Given the description of an element on the screen output the (x, y) to click on. 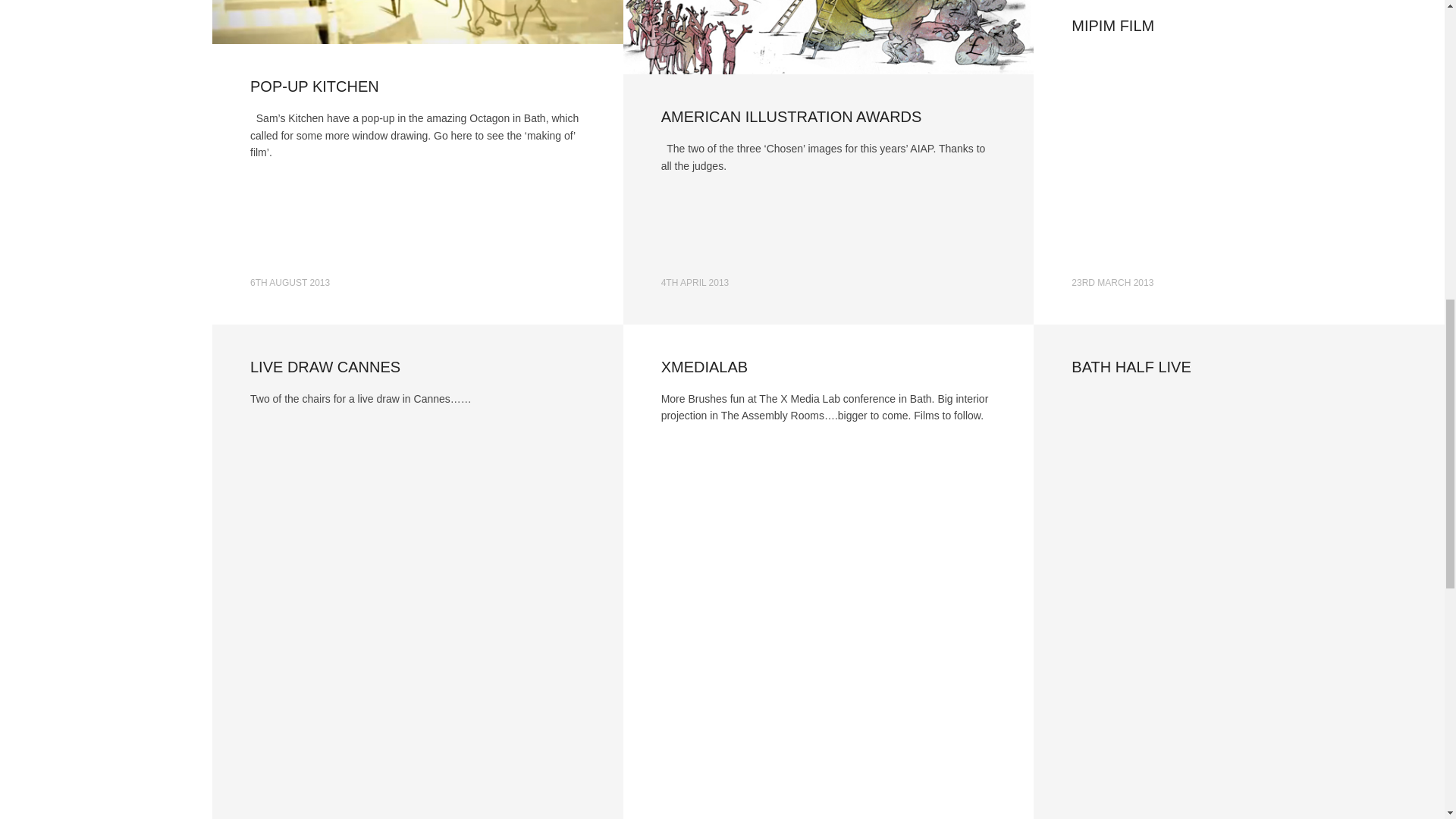
12:39 am (290, 282)
4TH APRIL 2013 (695, 282)
Permalink to American Illustration Awards (828, 37)
6TH AUGUST 2013 (290, 282)
Permalink to American Illustration Awards (791, 116)
Permalink to Pop-up Kitchen (417, 22)
Permalink to Pop-up Kitchen (314, 86)
XMEDIALAB (704, 366)
AMERICAN ILLUSTRATION AWARDS (791, 116)
BATH HALF LIVE (1131, 366)
